Given the description of an element on the screen output the (x, y) to click on. 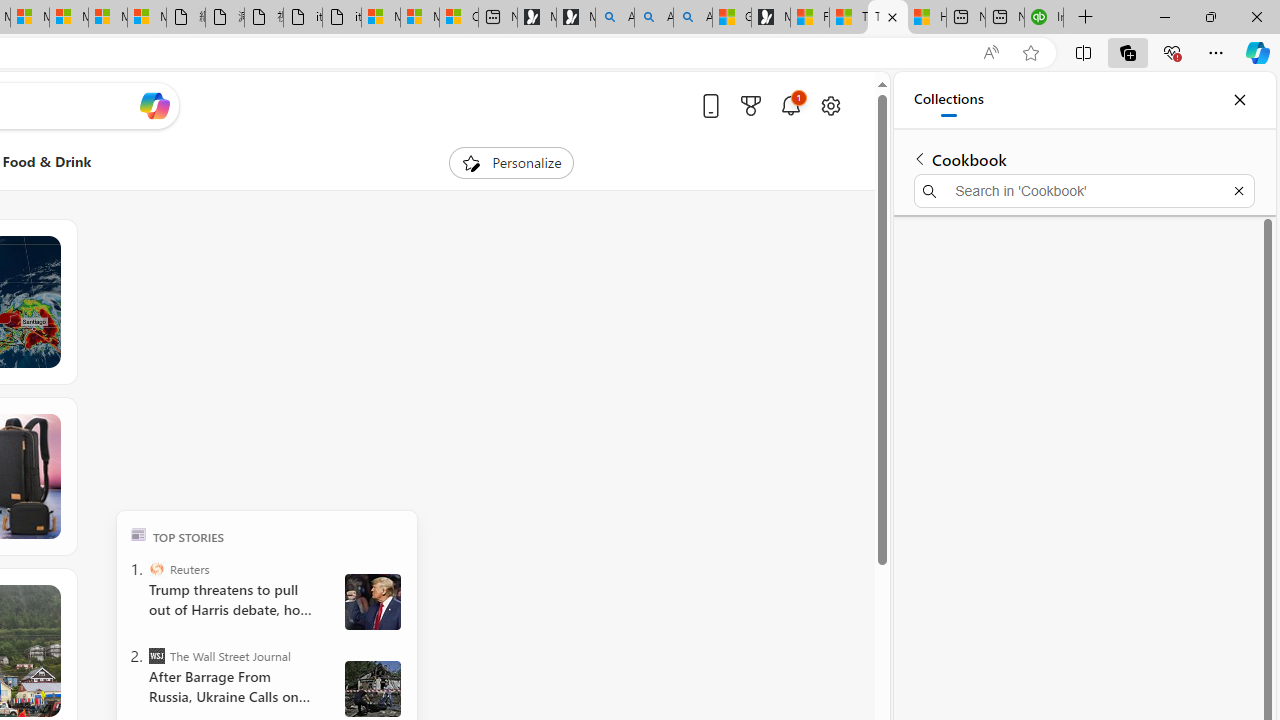
Exit search (1238, 190)
The Wall Street Journal (156, 655)
itconcepthk.com/projector_solutions.mp4 (341, 17)
